Given the description of an element on the screen output the (x, y) to click on. 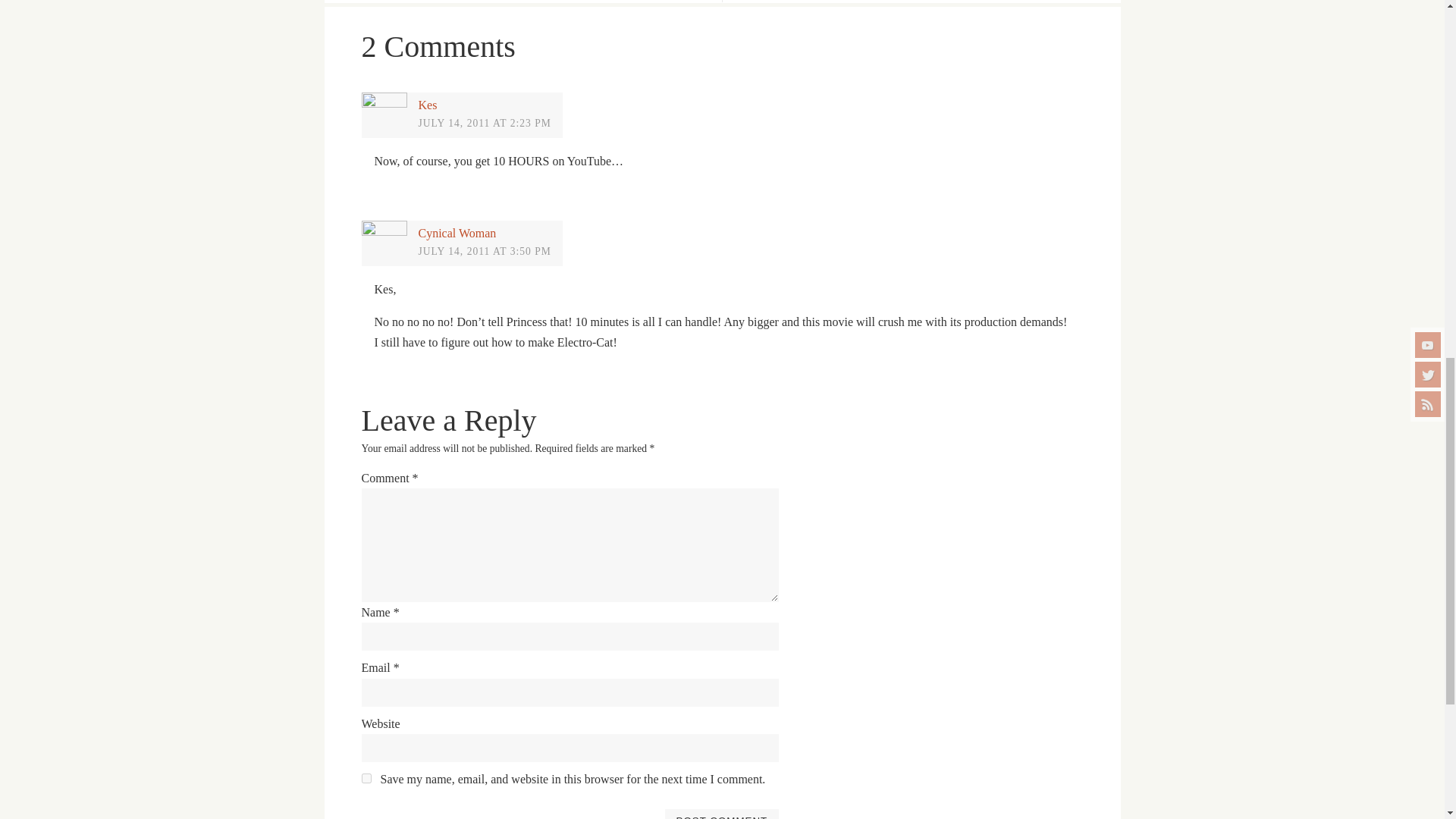
JULY 14, 2011 AT 3:50 PM (485, 251)
Post Comment (721, 814)
JULY 14, 2011 AT 2:23 PM (485, 122)
Kes (428, 104)
yes (366, 777)
Cynical Woman (457, 232)
Post Comment (721, 814)
